Given the description of an element on the screen output the (x, y) to click on. 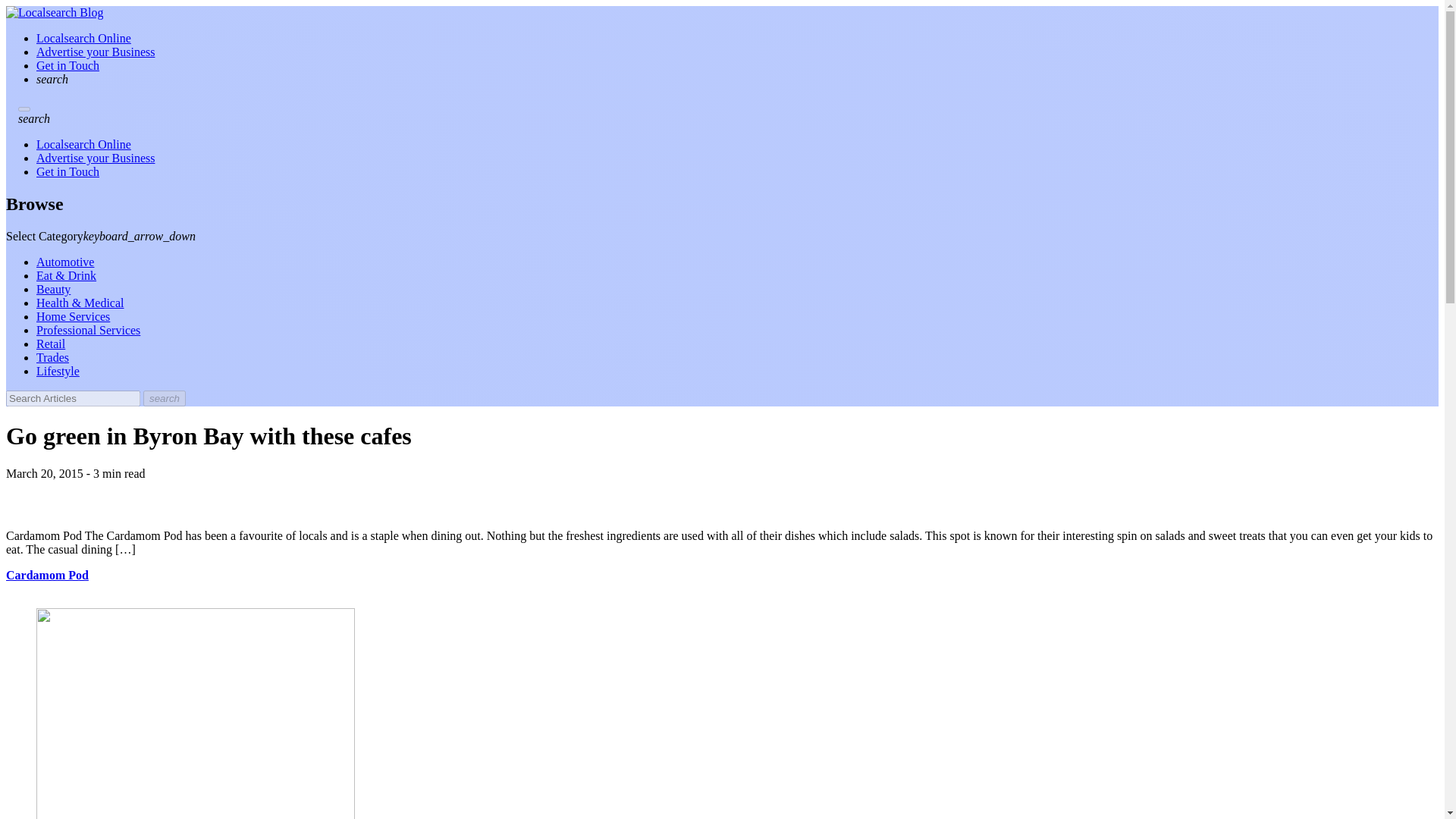
Lifestyle (58, 370)
Trades (52, 357)
Professional Services (87, 329)
Beauty (52, 288)
Automotive (65, 261)
Advertise your Business (95, 157)
search (164, 398)
Cardamom Pod (46, 574)
Advertise your Business (95, 51)
Get in Touch (67, 171)
